Given the description of an element on the screen output the (x, y) to click on. 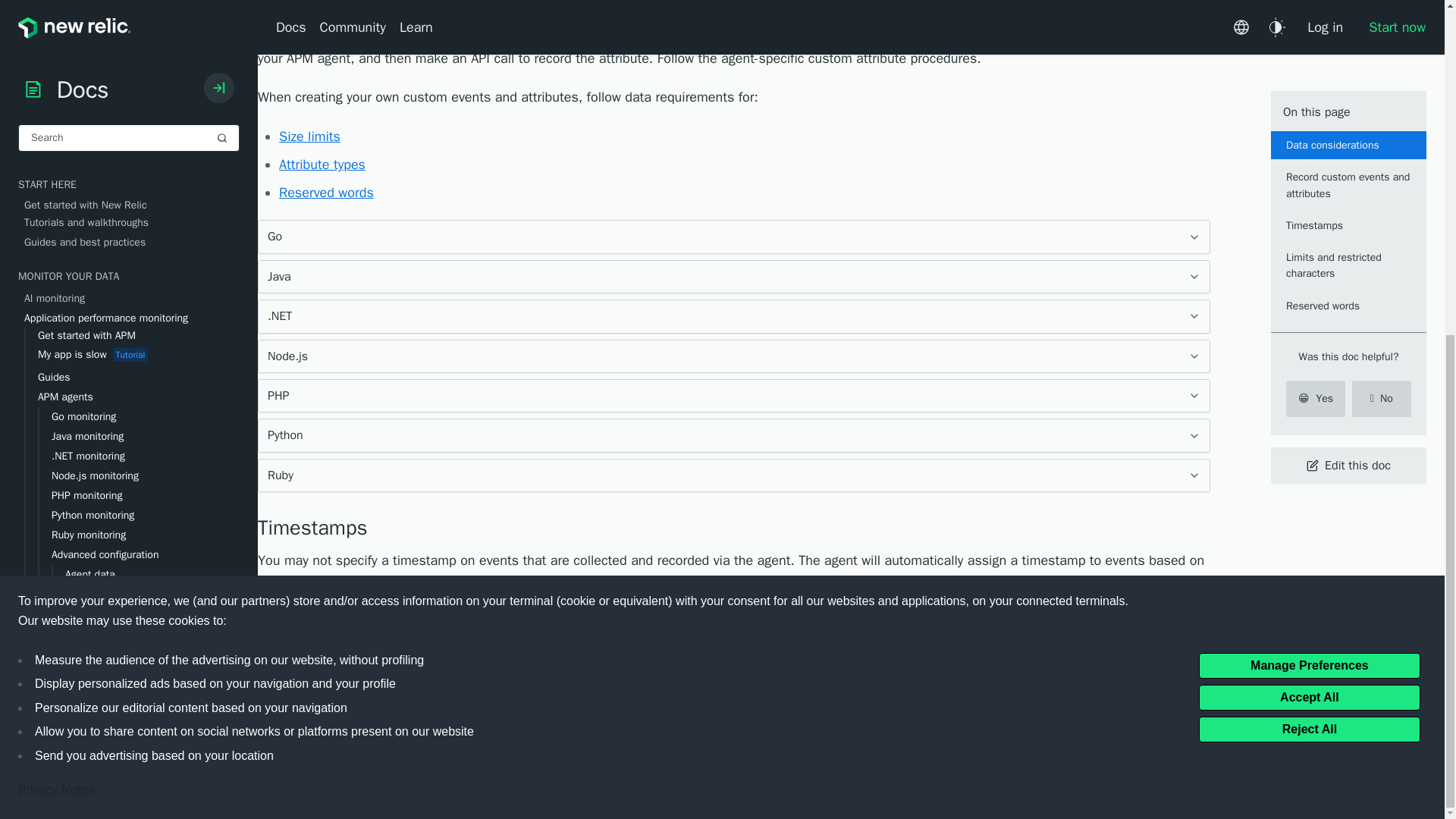
Privacy Notice (56, 229)
Manage Preferences (1309, 104)
Accept All (1309, 136)
Reject All (1309, 167)
